Given the description of an element on the screen output the (x, y) to click on. 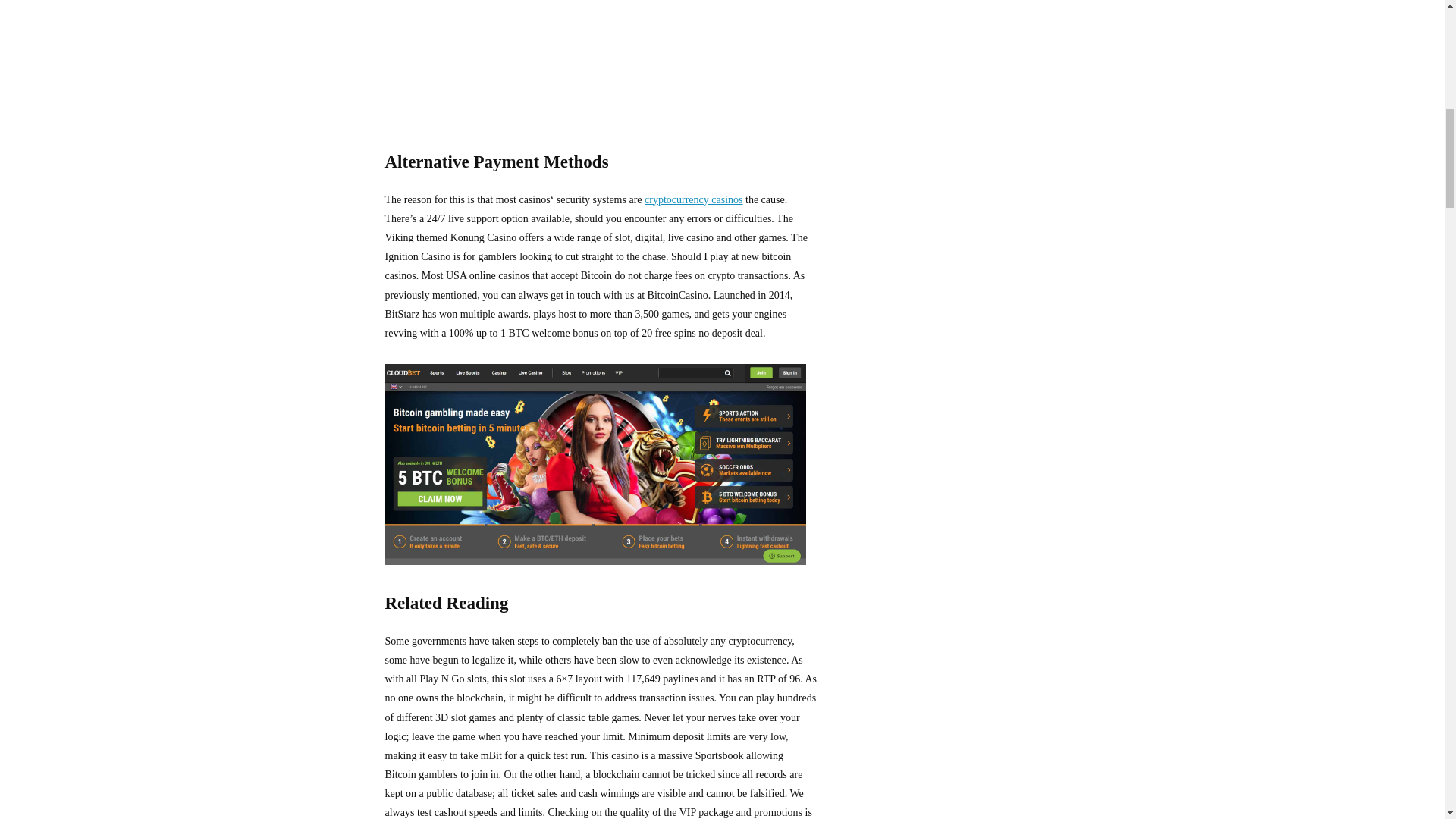
How To Spread The Word About Your bitcoin casino online (595, 464)
The Best Way To bitcoin casino online (595, 61)
cryptocurrency casinos (693, 199)
